Given the description of an element on the screen output the (x, y) to click on. 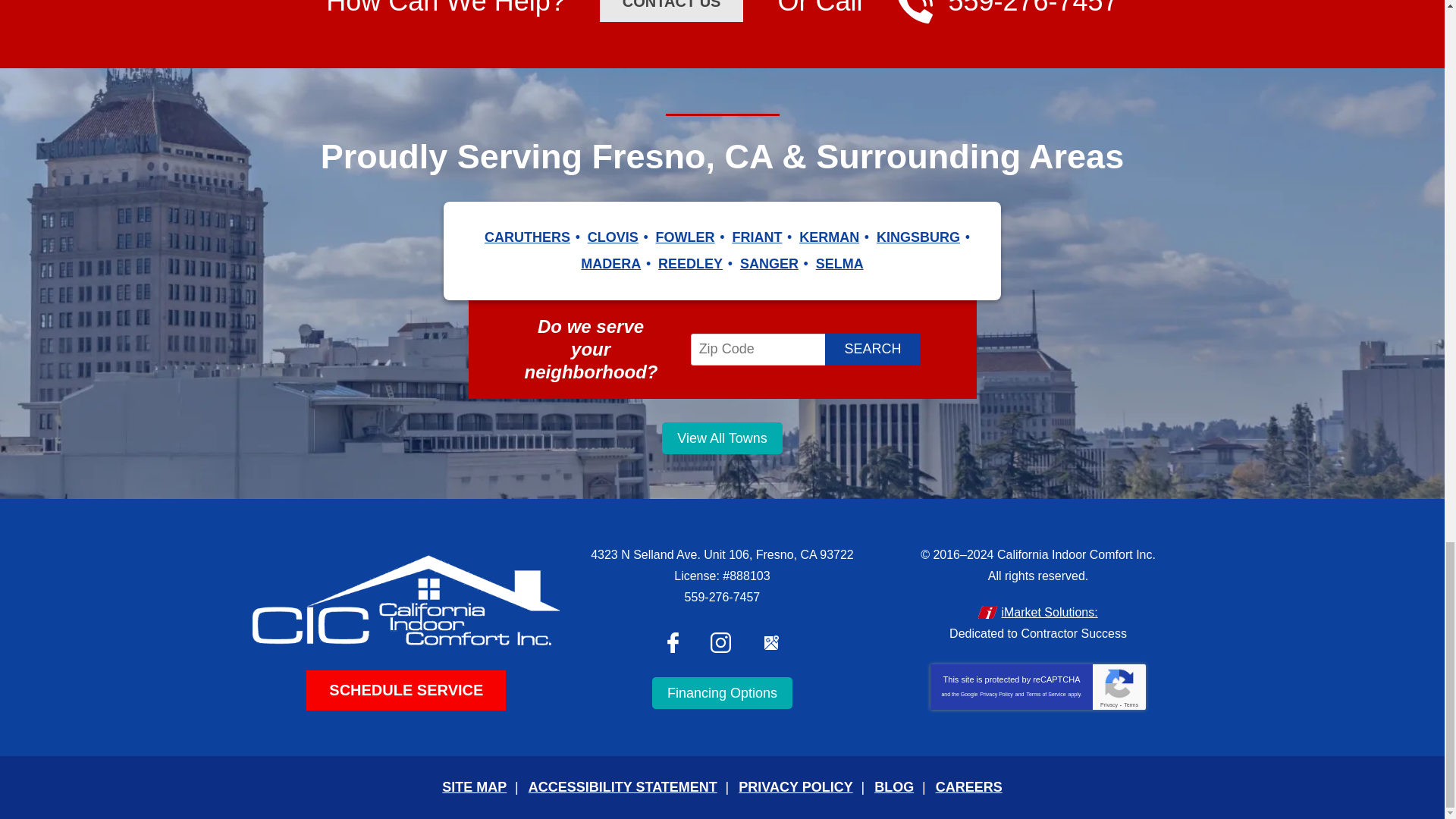
Search (872, 349)
